Given the description of an element on the screen output the (x, y) to click on. 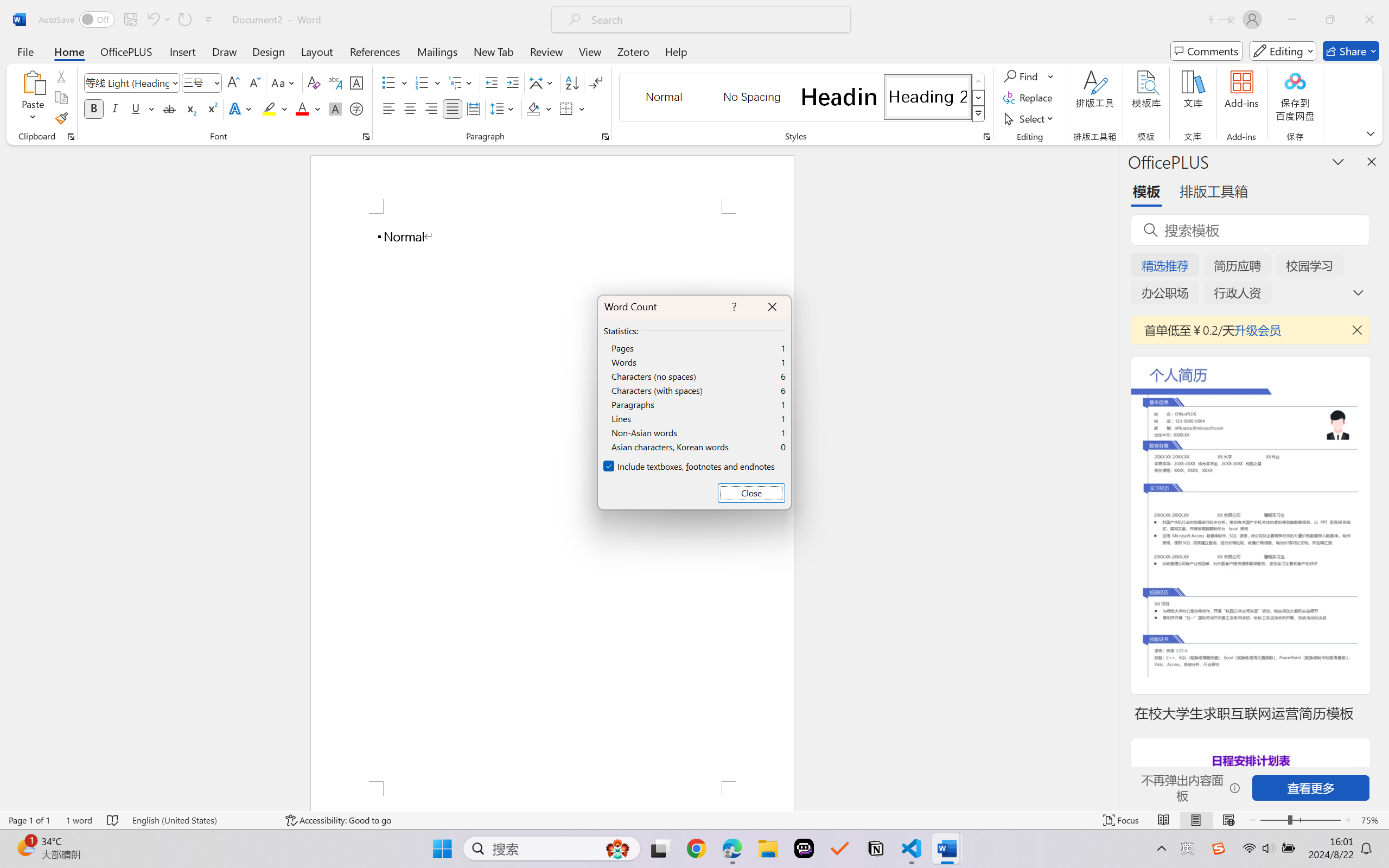
Home (69, 51)
AutomationID: DynamicSearchBoxGleamImage (617, 848)
Align Right (431, 108)
Focus  (1121, 819)
Sort... (571, 82)
Paragraph... (605, 136)
Phonetic Guide... (334, 82)
Office Clipboard... (70, 136)
Microsoft search (715, 19)
Google Chrome (696, 848)
